Given the description of an element on the screen output the (x, y) to click on. 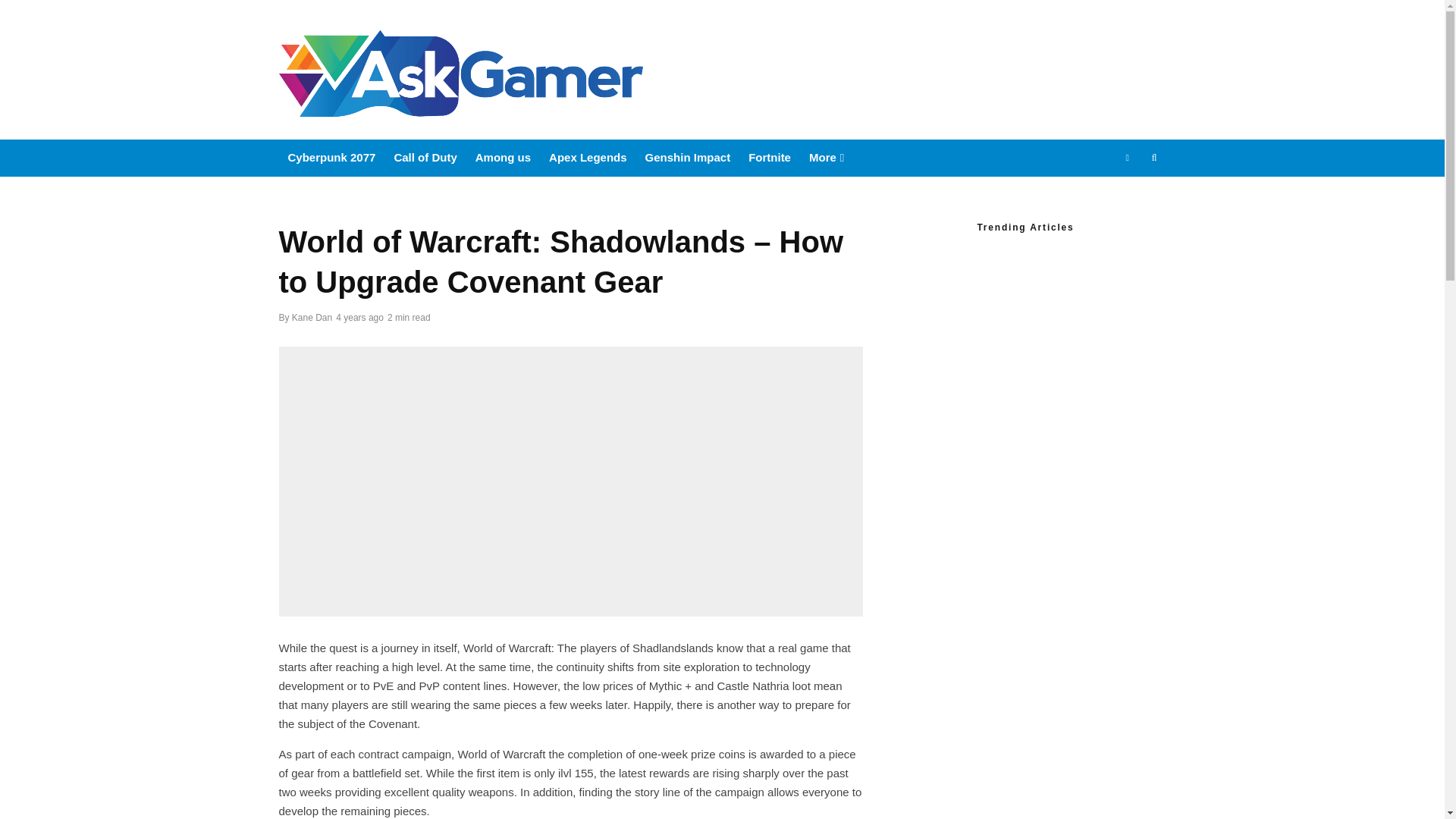
Apex Legends (588, 157)
Cyberpunk 2077 (332, 157)
Call of Duty (424, 157)
Among us (502, 157)
